Given the description of an element on the screen output the (x, y) to click on. 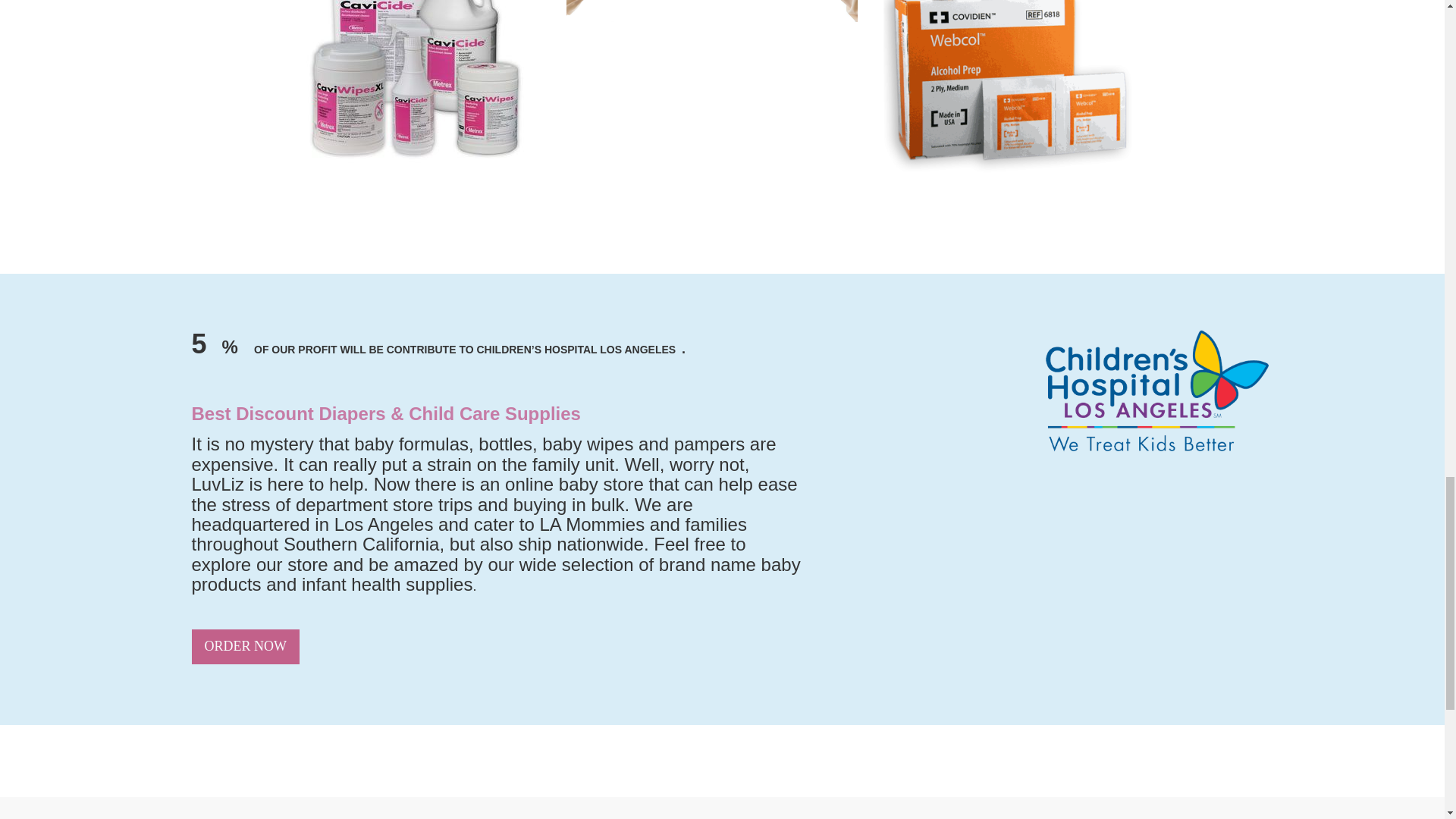
ORDER NOW (244, 646)
